Given the description of an element on the screen output the (x, y) to click on. 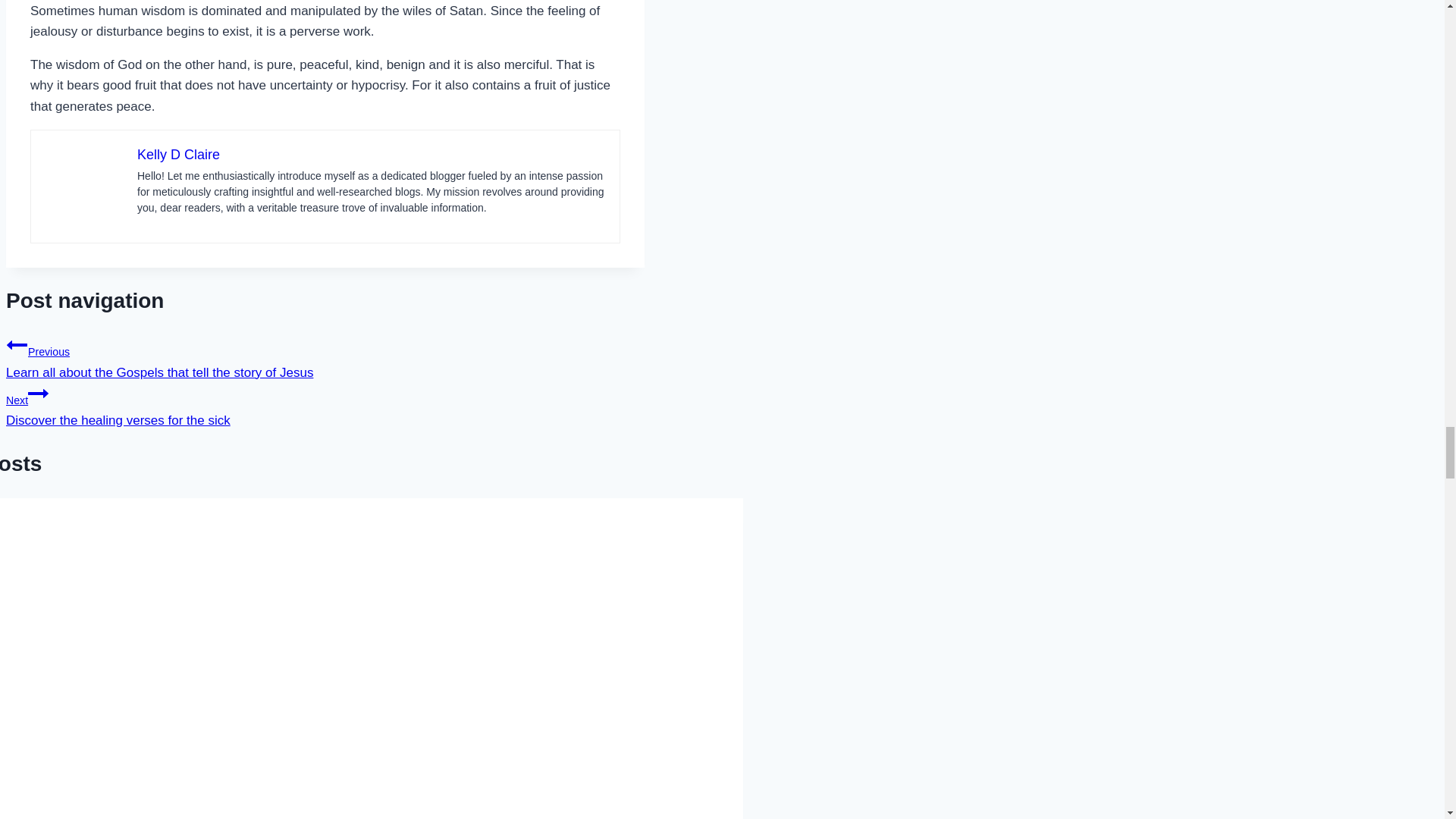
Kelly D Claire (177, 154)
Previous (16, 344)
Continue (325, 405)
